Given the description of an element on the screen output the (x, y) to click on. 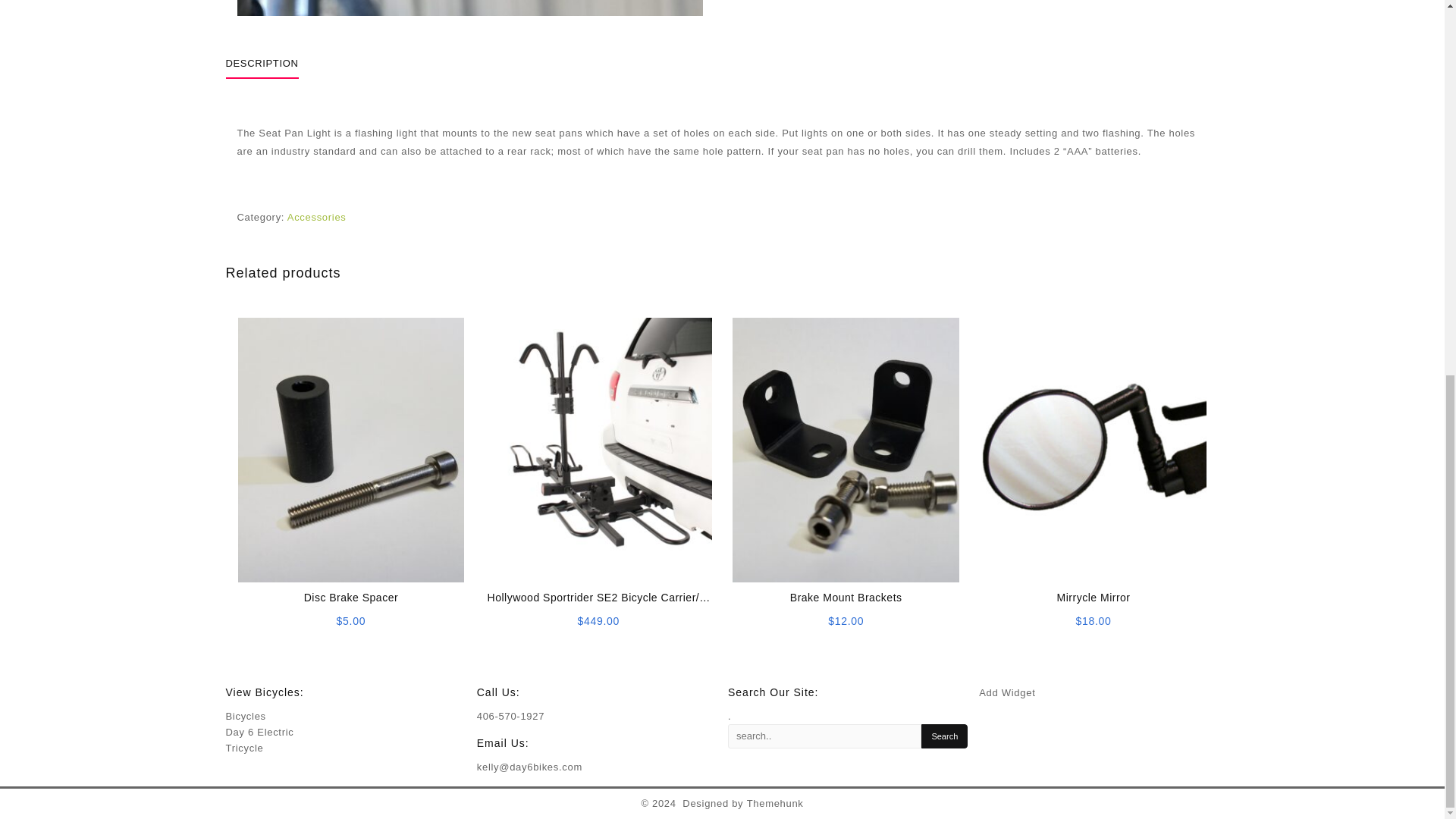
Seat Pan Light (468, 7)
DESCRIPTION (261, 62)
Search (944, 735)
Disc Brake Spacer (351, 597)
Accessories (316, 216)
